Given the description of an element on the screen output the (x, y) to click on. 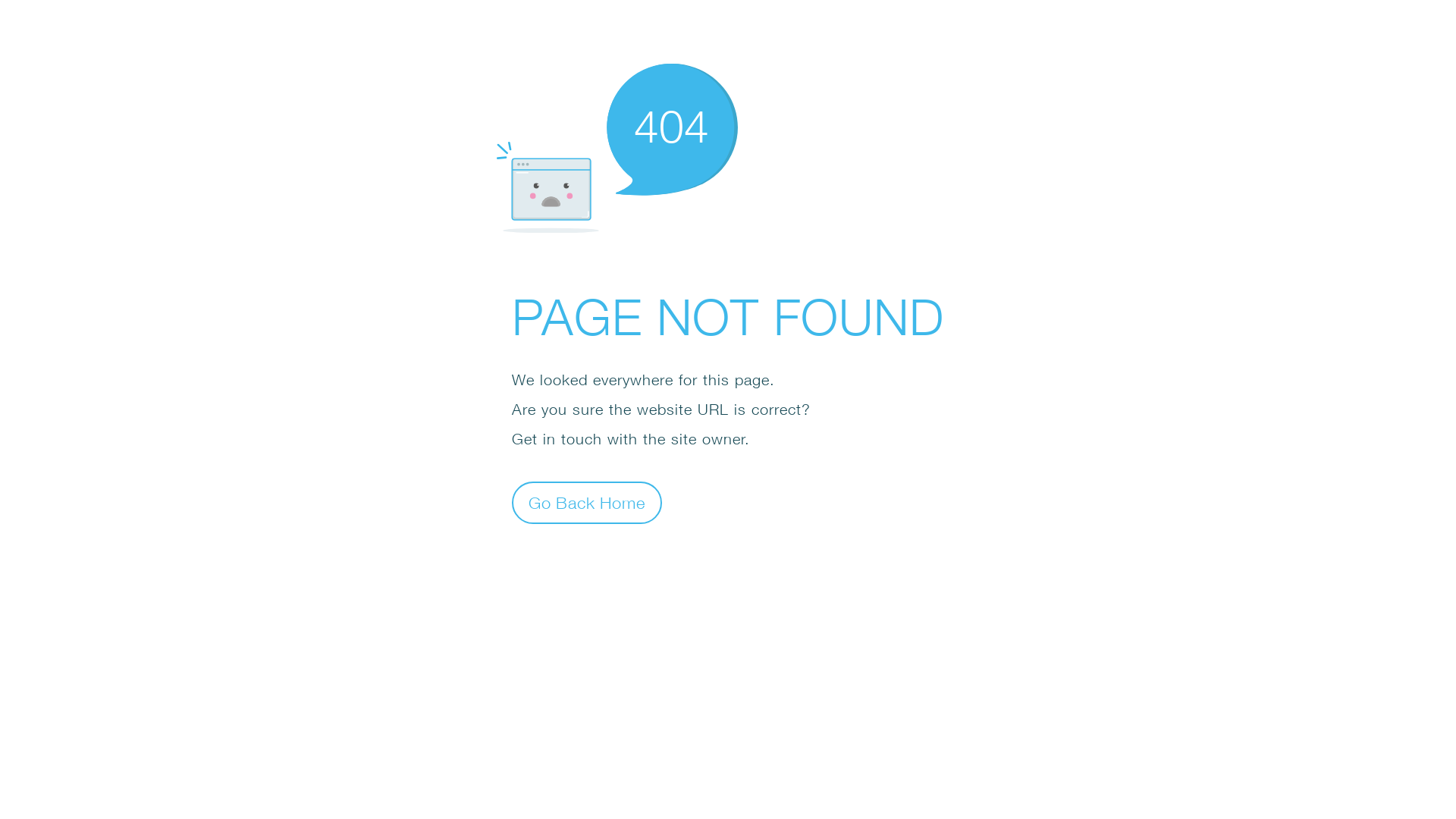
Go Back Home Element type: text (586, 502)
